Given the description of an element on the screen output the (x, y) to click on. 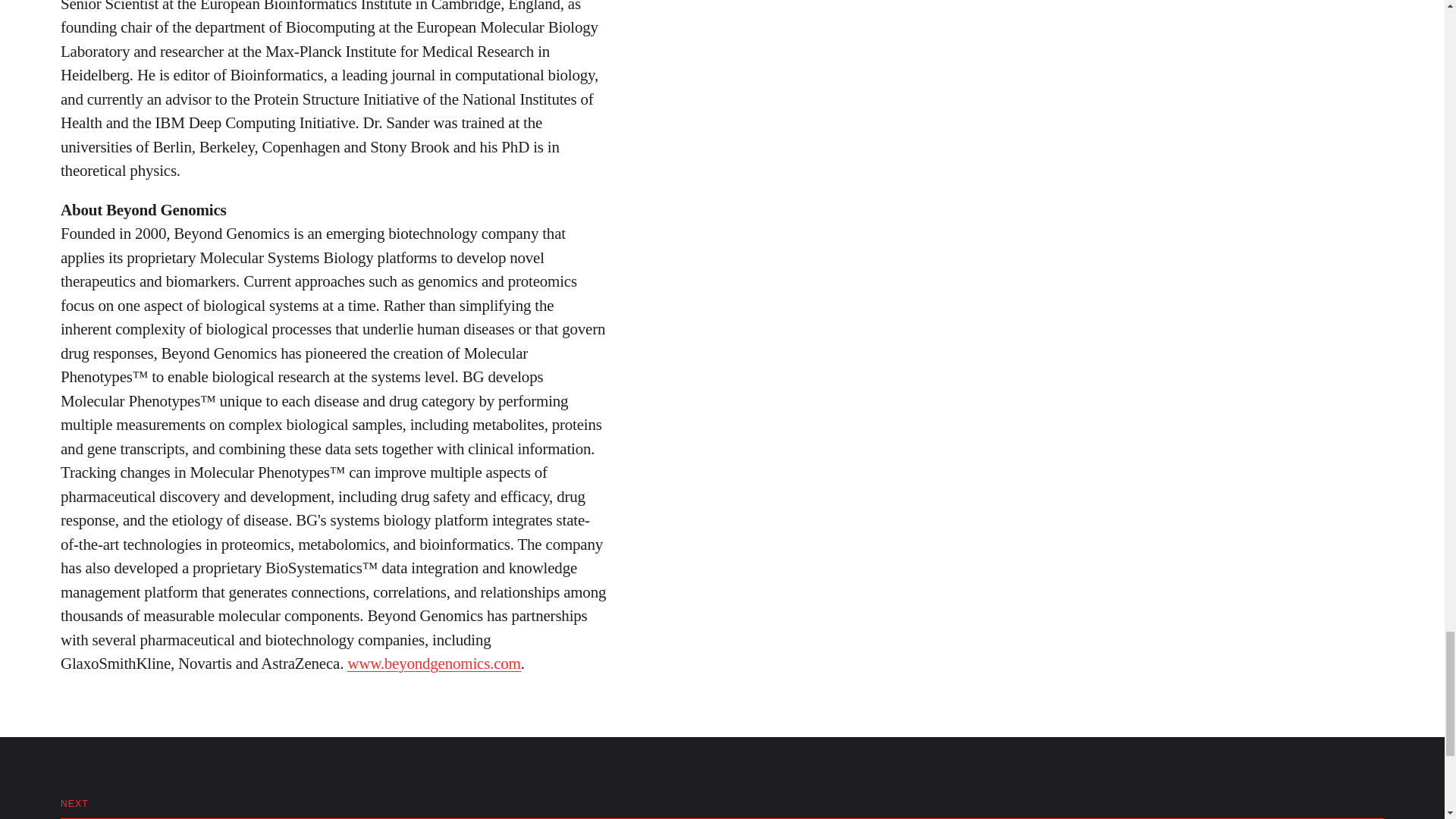
www.beyondgenomics.com (433, 663)
